Given the description of an element on the screen output the (x, y) to click on. 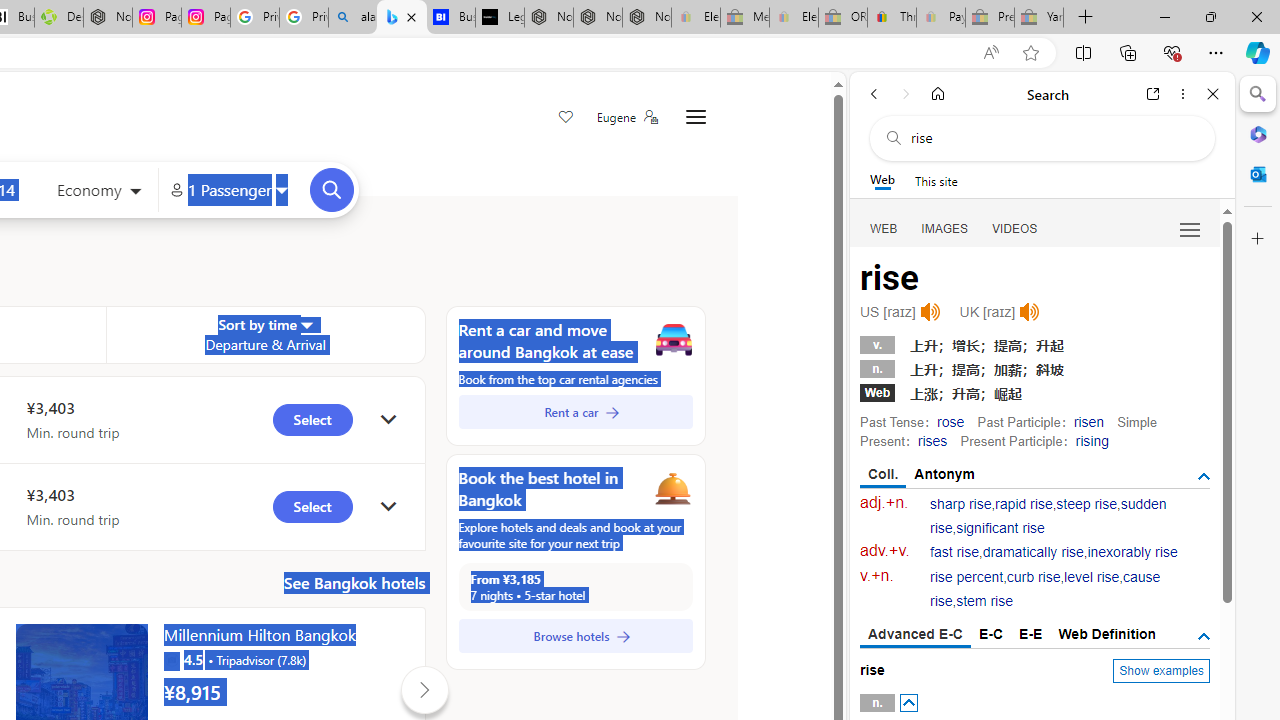
WEB (884, 228)
VIDEOS (1015, 228)
Open link in new tab (1153, 93)
sudden rise (1048, 515)
Outlook (1258, 174)
curb rise (1033, 577)
Save (565, 118)
Web Definition (1106, 633)
1 Passenger (228, 189)
